Given the description of an element on the screen output the (x, y) to click on. 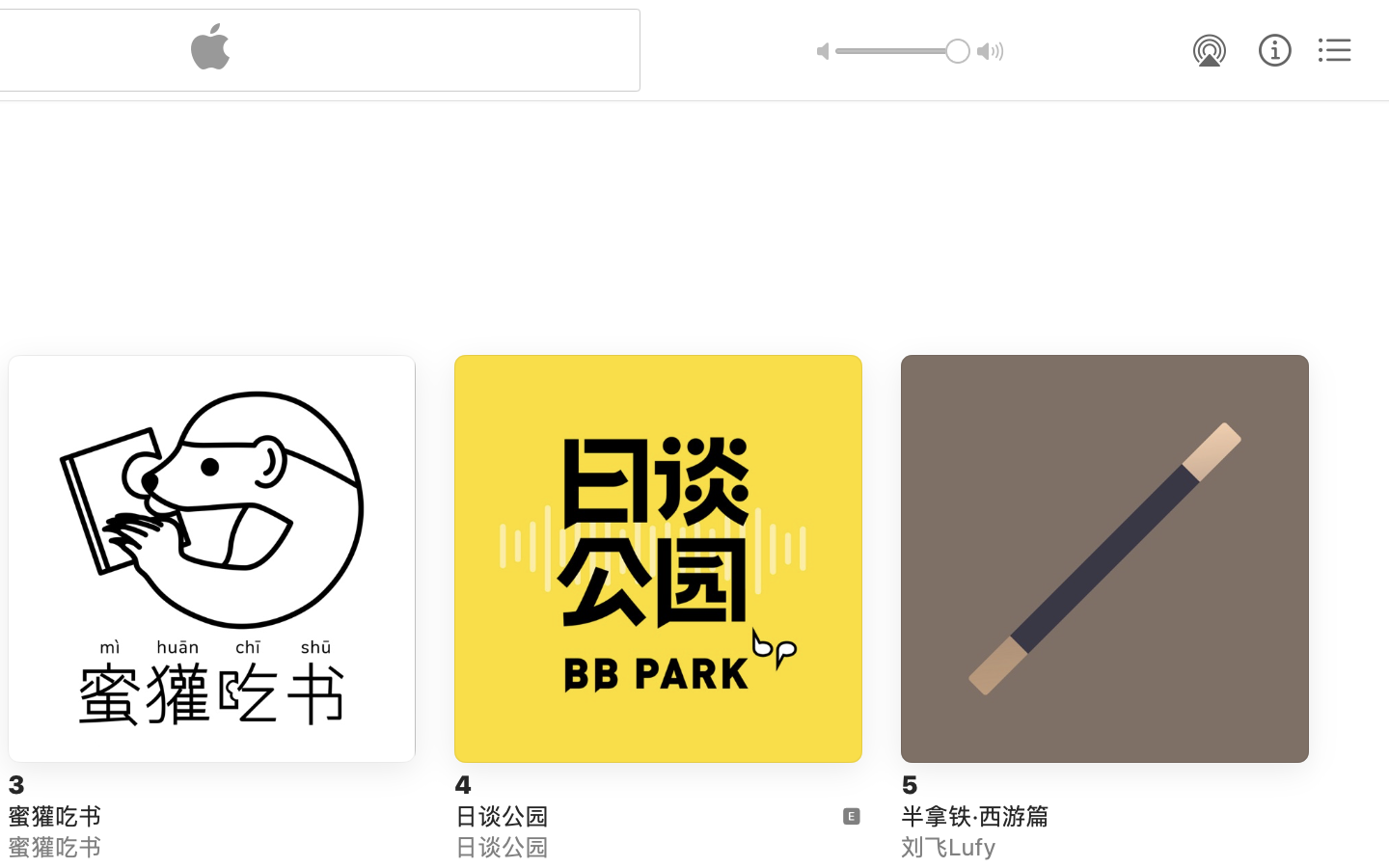
1.0 Element type: AXSlider (902, 50)
